Given the description of an element on the screen output the (x, y) to click on. 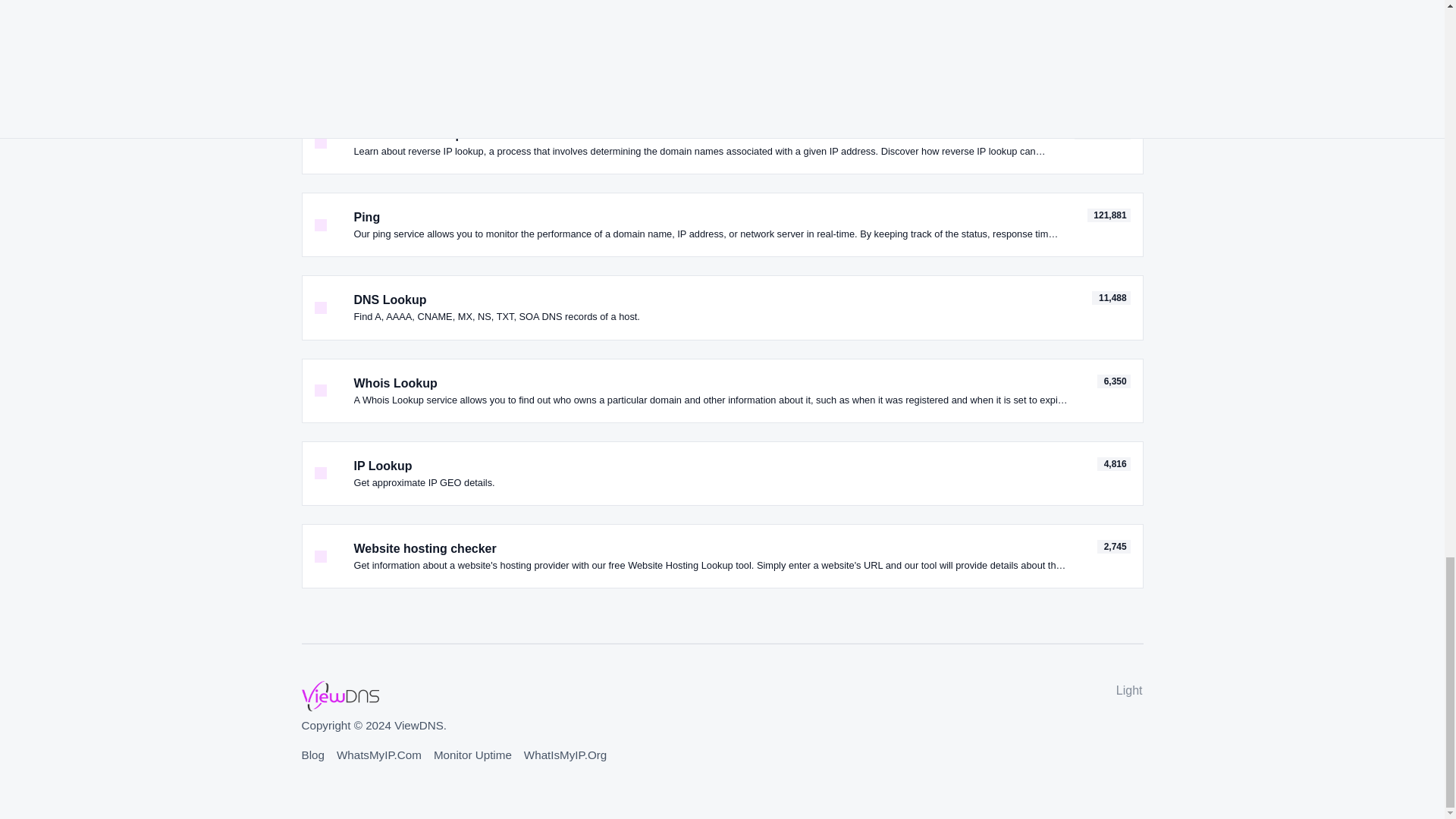
Light (1127, 690)
WhatsMyIP.Com (379, 754)
Switch to Dark Mode (1127, 690)
WhatIsMyIP.Org (565, 754)
Total views (1109, 214)
Monitor Uptime (472, 754)
Total views (1102, 132)
Total views (1114, 463)
Blog (312, 754)
Total views (1114, 381)
Total views (1110, 297)
Total views (1114, 546)
